Given the description of an element on the screen output the (x, y) to click on. 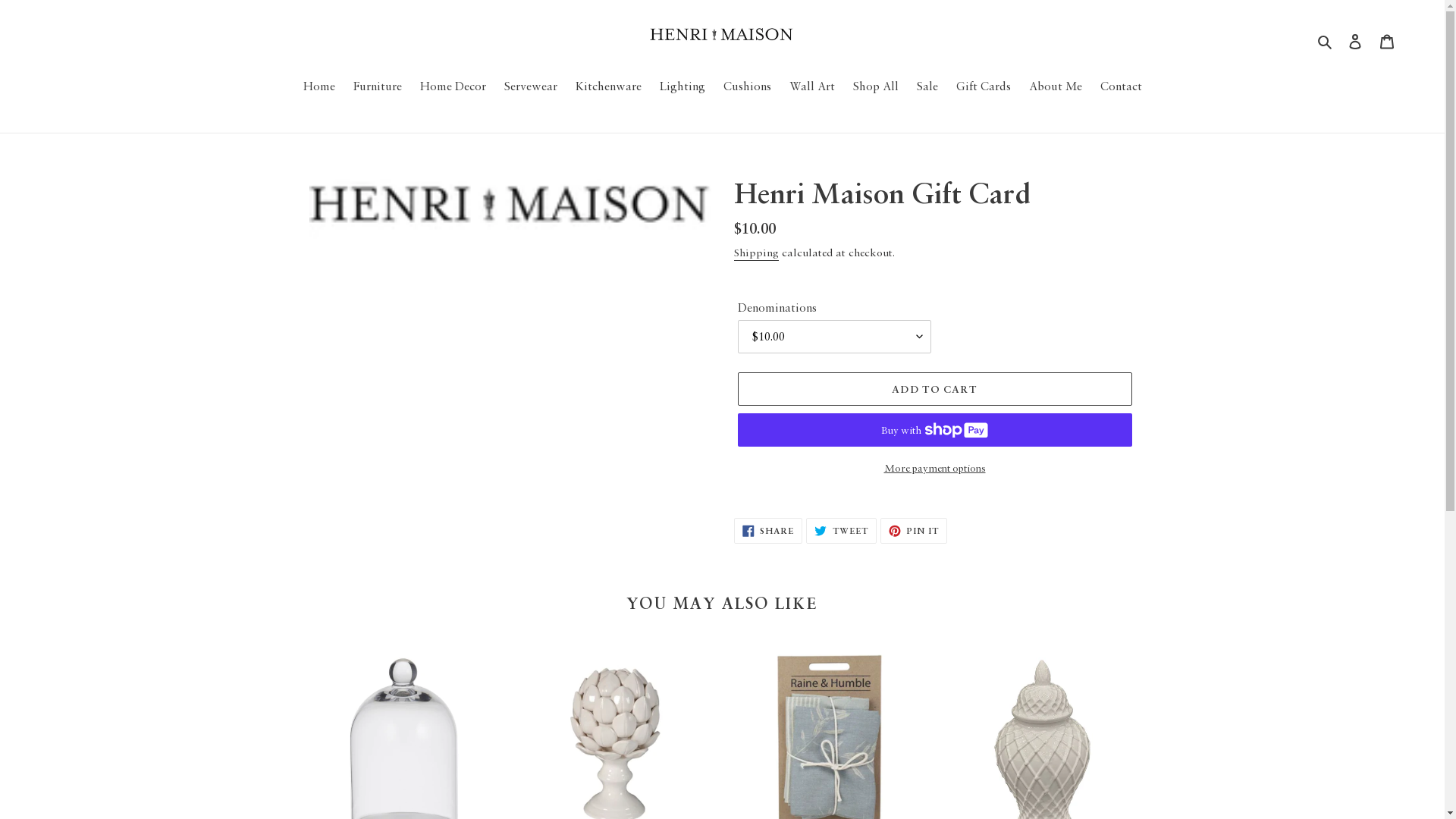
Sale Element type: text (926, 86)
Cart Element type: text (1386, 39)
ADD TO CART Element type: text (934, 388)
Lighting Element type: text (682, 86)
Wall Art Element type: text (811, 86)
Kitchenware Element type: text (607, 86)
SHARE
SHARE ON FACEBOOK Element type: text (768, 530)
Shipping Element type: text (756, 252)
Cushions Element type: text (746, 86)
Home Element type: text (318, 86)
Servewear Element type: text (529, 86)
More payment options Element type: text (934, 467)
Gift Cards Element type: text (982, 86)
TWEET
TWEET ON TWITTER Element type: text (841, 530)
Home Decor Element type: text (452, 86)
Search Element type: text (1325, 39)
Contact Element type: text (1120, 86)
PIN IT
PIN ON PINTEREST Element type: text (913, 530)
Furniture Element type: text (377, 86)
Log in Element type: text (1355, 39)
About Me Element type: text (1054, 86)
Shop All Element type: text (874, 86)
